Given the description of an element on the screen output the (x, y) to click on. 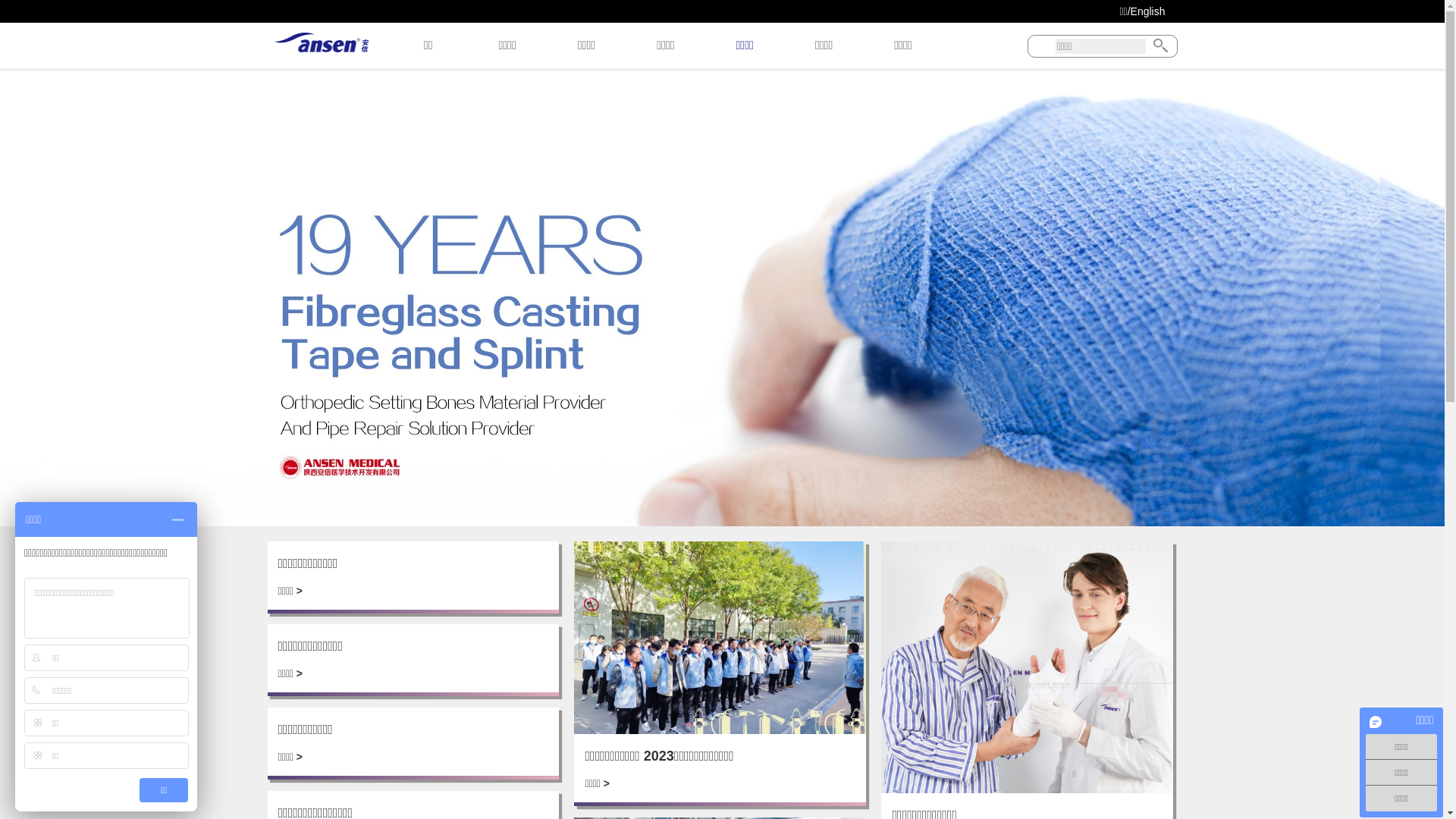
English Element type: text (1147, 11)
